Given the description of an element on the screen output the (x, y) to click on. 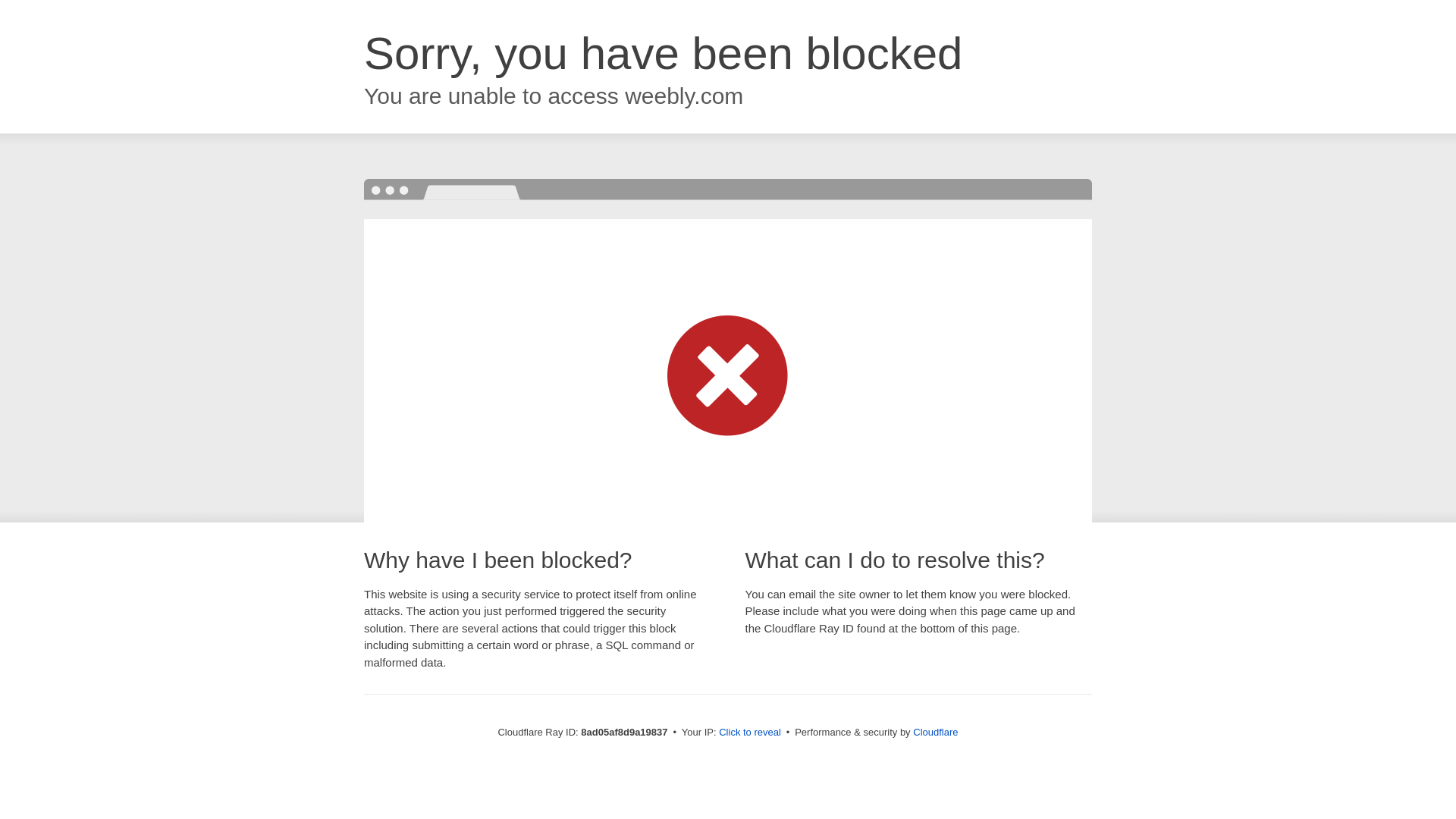
Click to reveal (749, 732)
Cloudflare (935, 731)
